Given the description of an element on the screen output the (x, y) to click on. 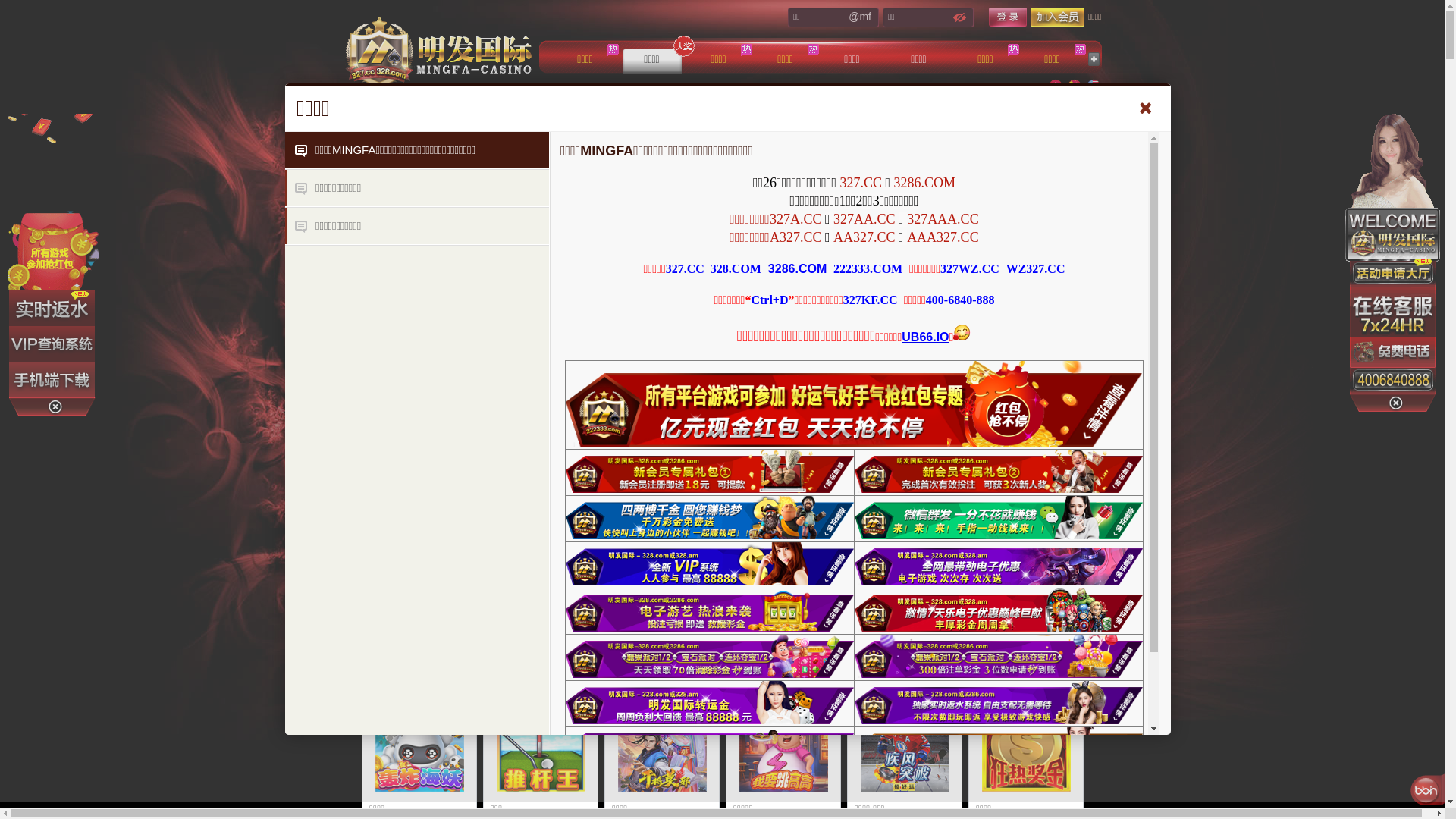
English Element type: hover (1092, 86)
327KF.CC Element type: text (870, 299)
UB66.IO Element type: text (924, 336)
